Given the description of an element on the screen output the (x, y) to click on. 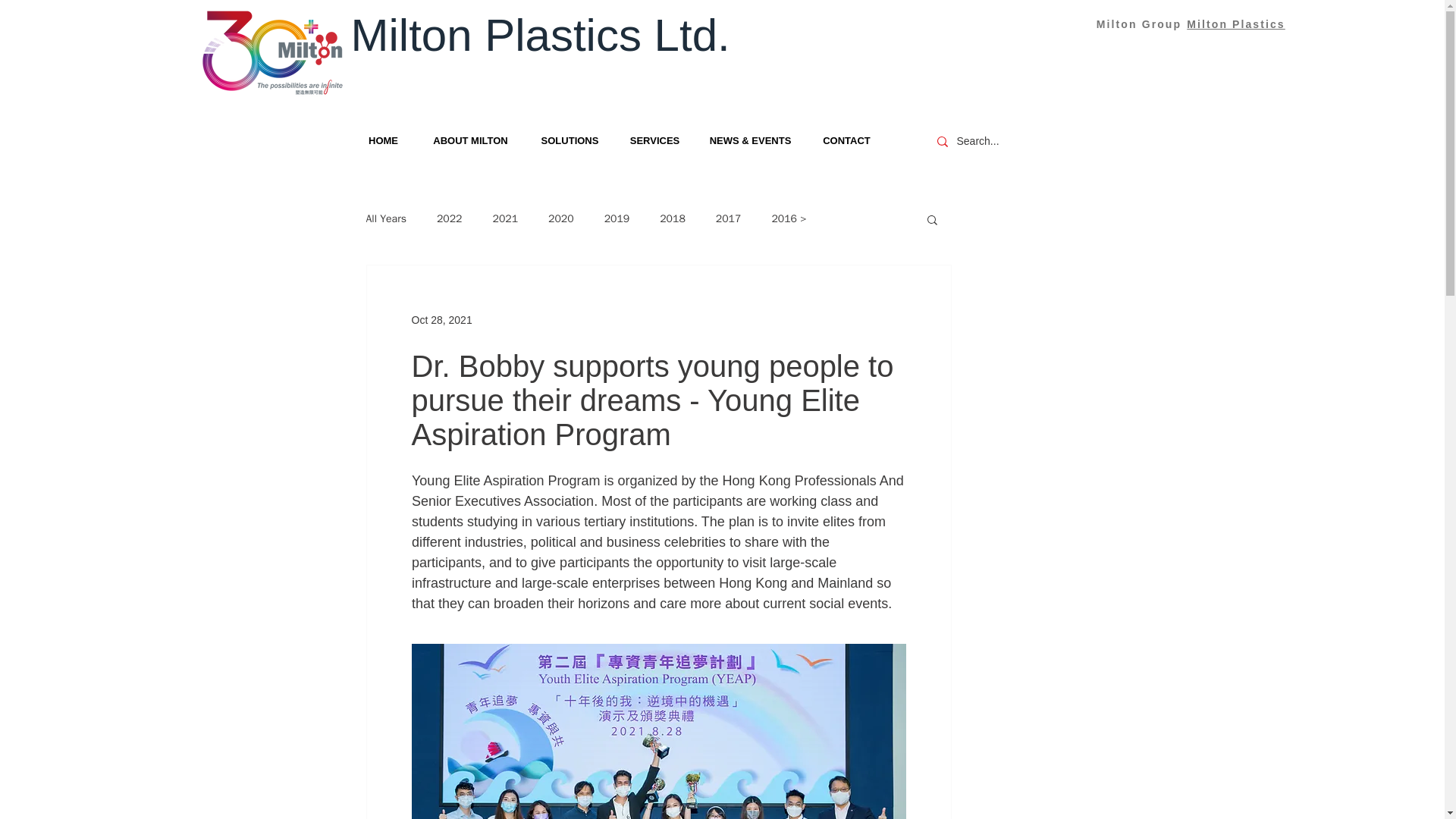
2018 (672, 219)
Hong Kong Professionals And Senior Executives Association (658, 490)
ABOUT MILTON (470, 140)
2019 (617, 219)
All Years (385, 219)
HOME (382, 140)
2017 (728, 219)
Log In (1053, 23)
SERVICES (654, 140)
2022 (449, 219)
2021 (505, 219)
2020 (560, 219)
CONTACT (846, 140)
Milton Plastics (1236, 24)
Oct 28, 2021 (440, 319)
